Given the description of an element on the screen output the (x, y) to click on. 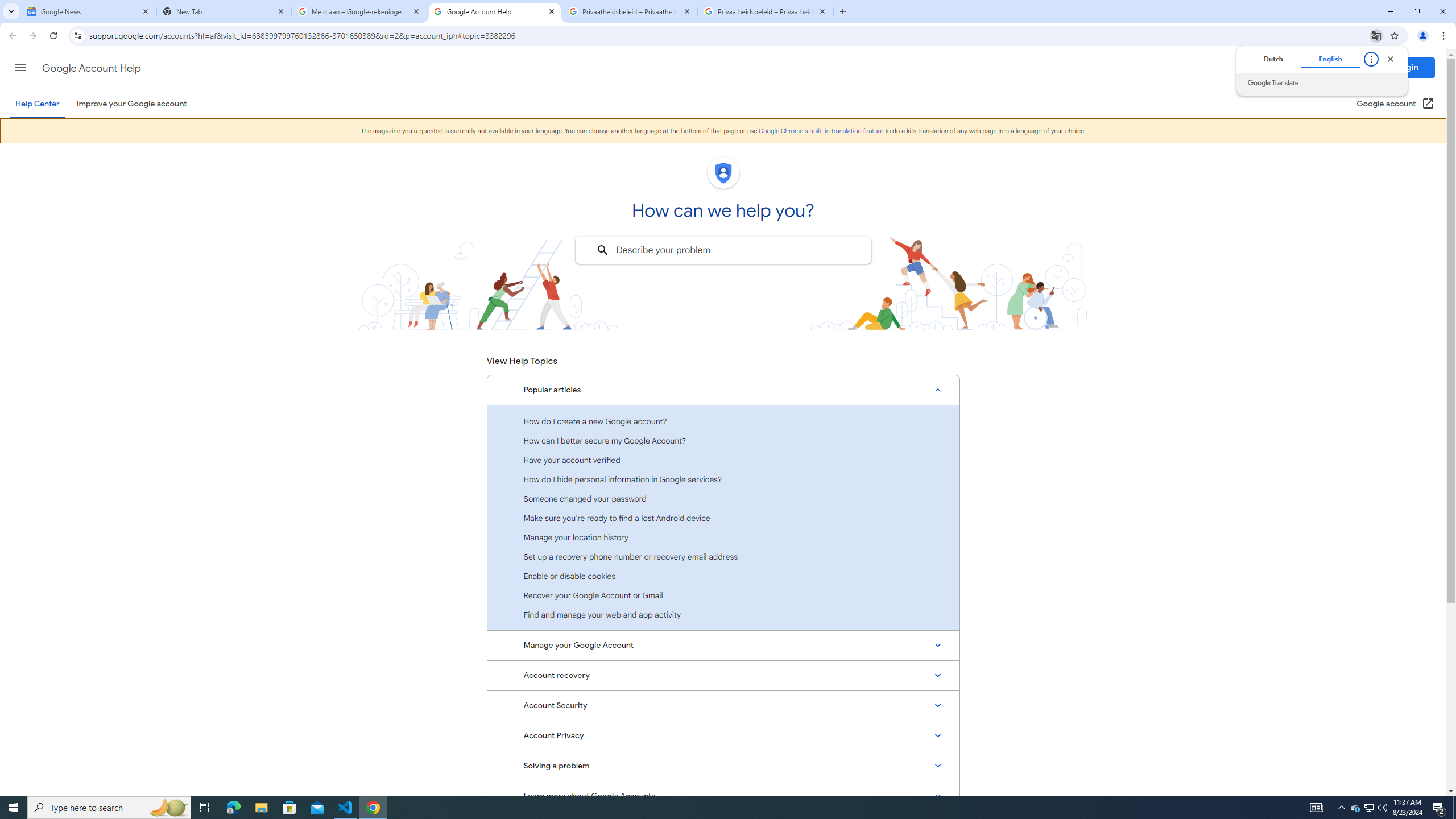
Running applications (717, 807)
Start (13, 807)
Type here to search (108, 807)
Make sure you're ready to find a lost Android device (722, 517)
To search (601, 249)
Main menu (20, 67)
How do I create a new Google account? (722, 420)
Have your account verified (722, 460)
Set up a recovery phone number or recovery email address (722, 556)
Help Center (36, 103)
Enable or disable cookies (722, 575)
Q2790: 100% (1382, 807)
Visual Studio Code - 1 running window (345, 807)
